Given the description of an element on the screen output the (x, y) to click on. 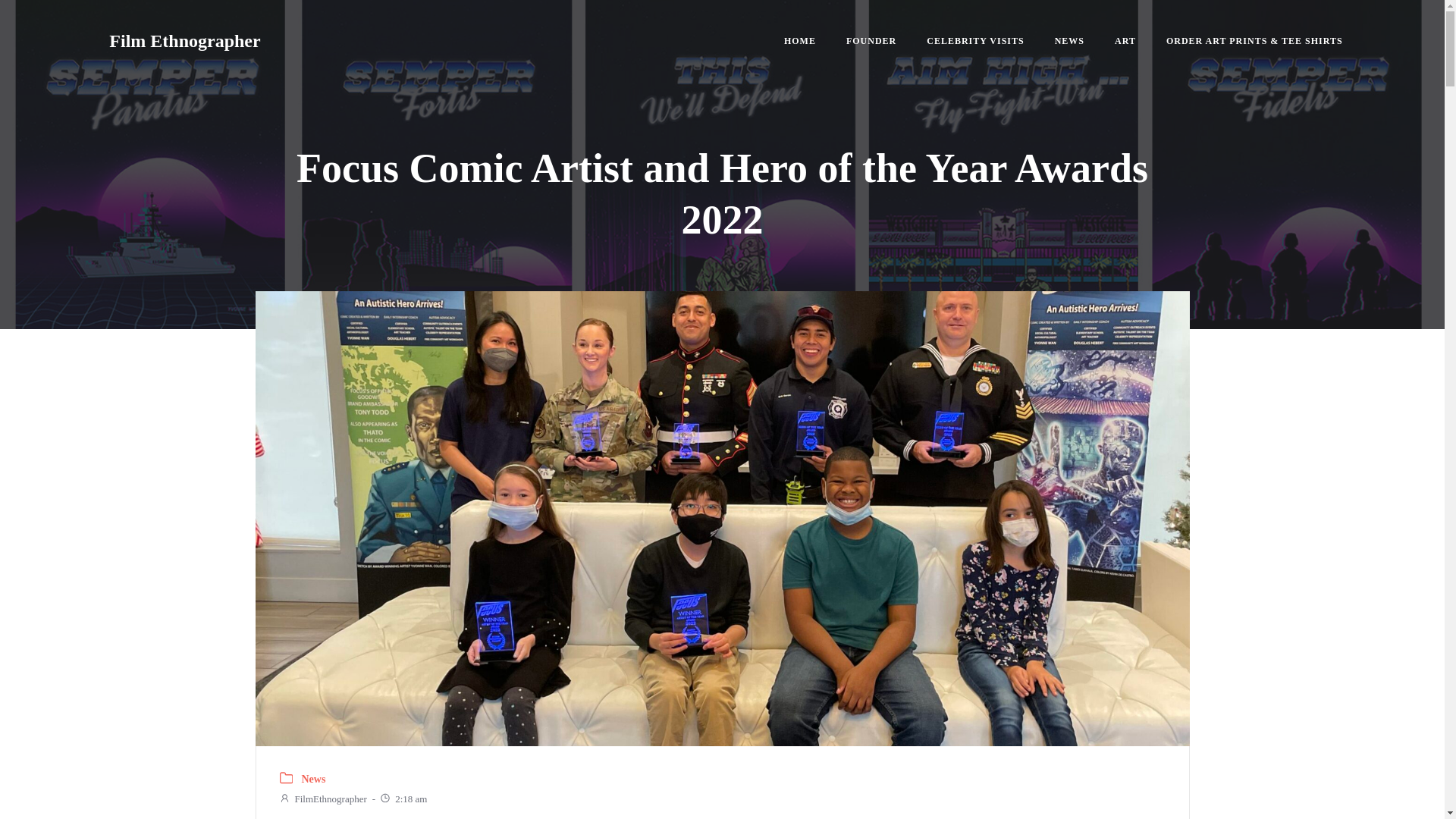
ART (1125, 40)
FOUNDER (870, 40)
FilmEthnographer (322, 798)
Film Ethnographer (184, 40)
HOME (799, 40)
News (313, 779)
CELEBRITY VISITS (974, 40)
2:18 am (402, 798)
NEWS (1069, 40)
